Given the description of an element on the screen output the (x, y) to click on. 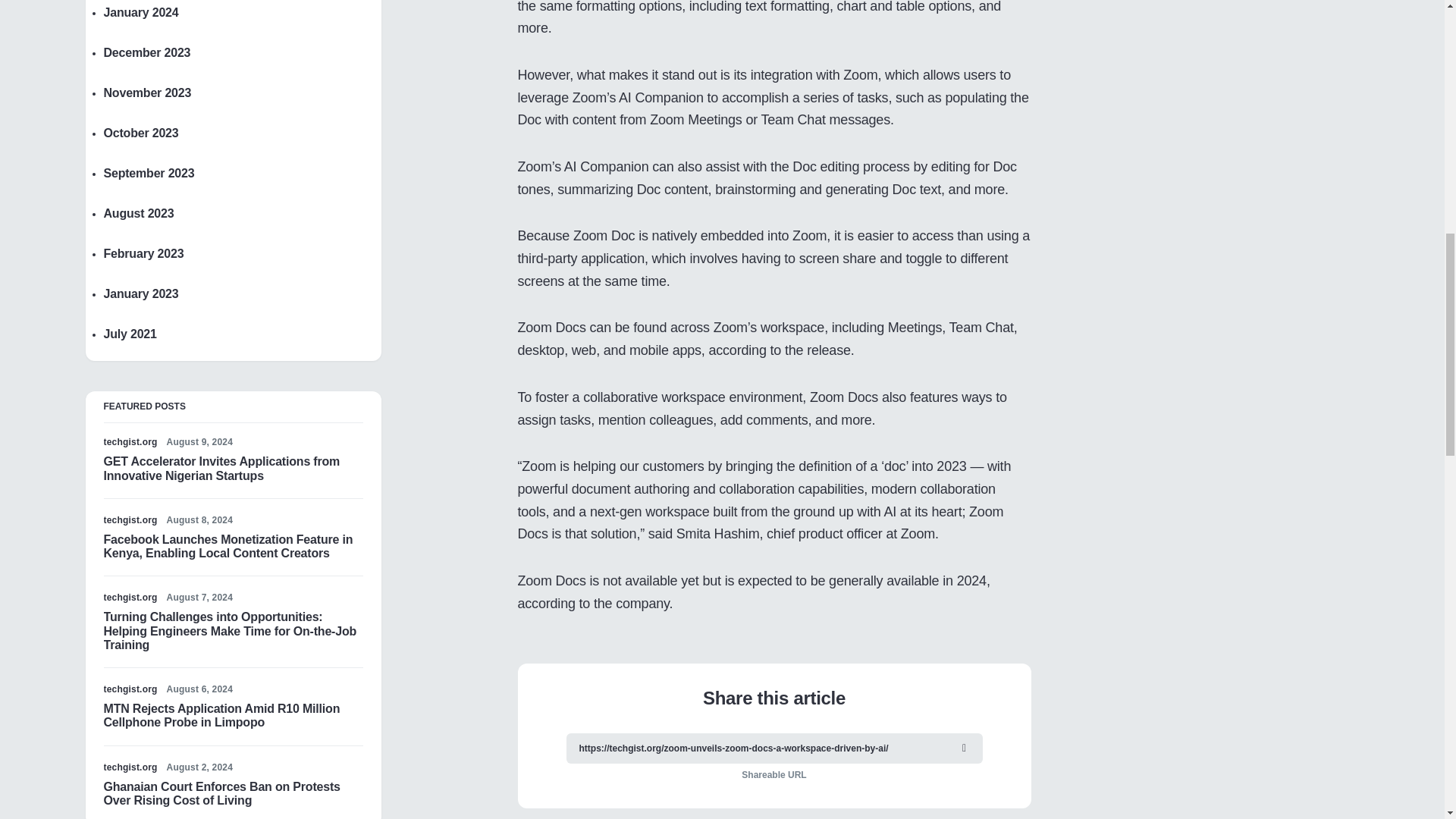
View all posts by techgist.org (130, 520)
View all posts by techgist.org (130, 597)
View all posts by techgist.org (130, 766)
View all posts by techgist.org (130, 441)
View all posts by techgist.org (130, 689)
